Given the description of an element on the screen output the (x, y) to click on. 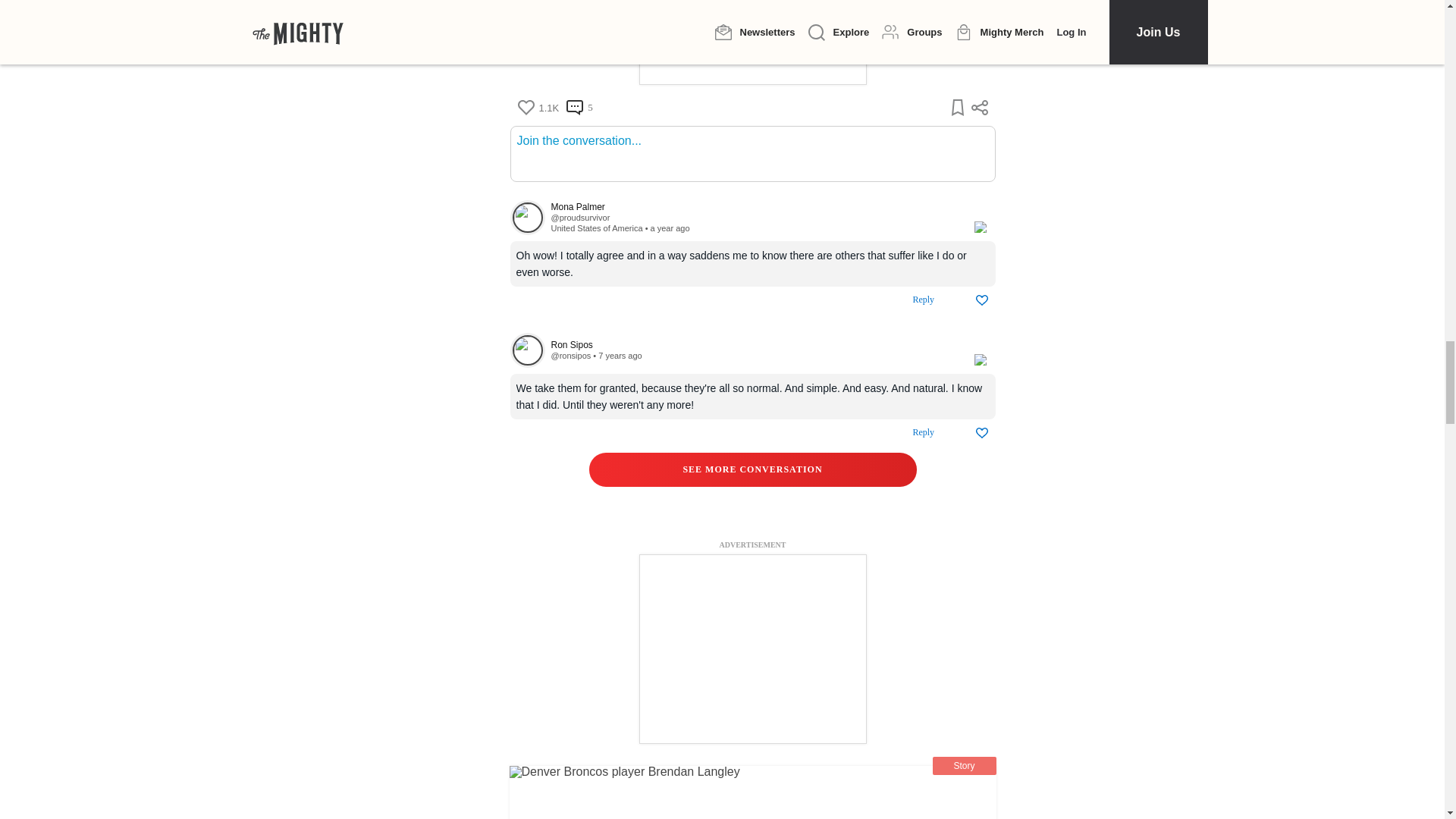
View their profile (754, 207)
View their profile (754, 345)
View their profile (526, 349)
View their profile (580, 216)
1.1K (537, 107)
View their profile (526, 217)
View their profile (570, 355)
